Given the description of an element on the screen output the (x, y) to click on. 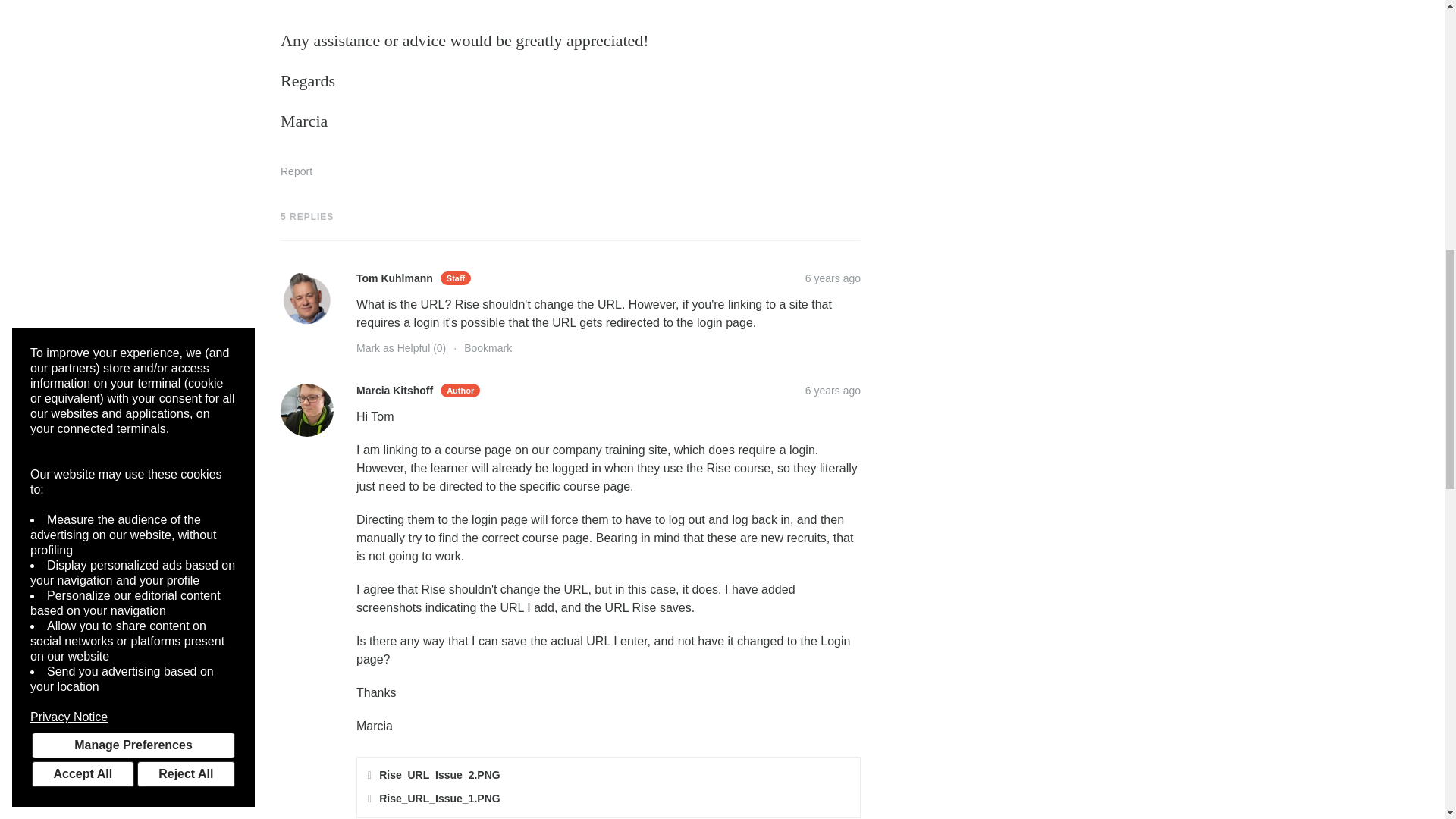
Tom Kuhlmann (307, 297)
Copy URL to Clipboard (832, 277)
Marcia Kitshoff (307, 410)
Copy URL to Clipboard (832, 390)
